Given the description of an element on the screen output the (x, y) to click on. 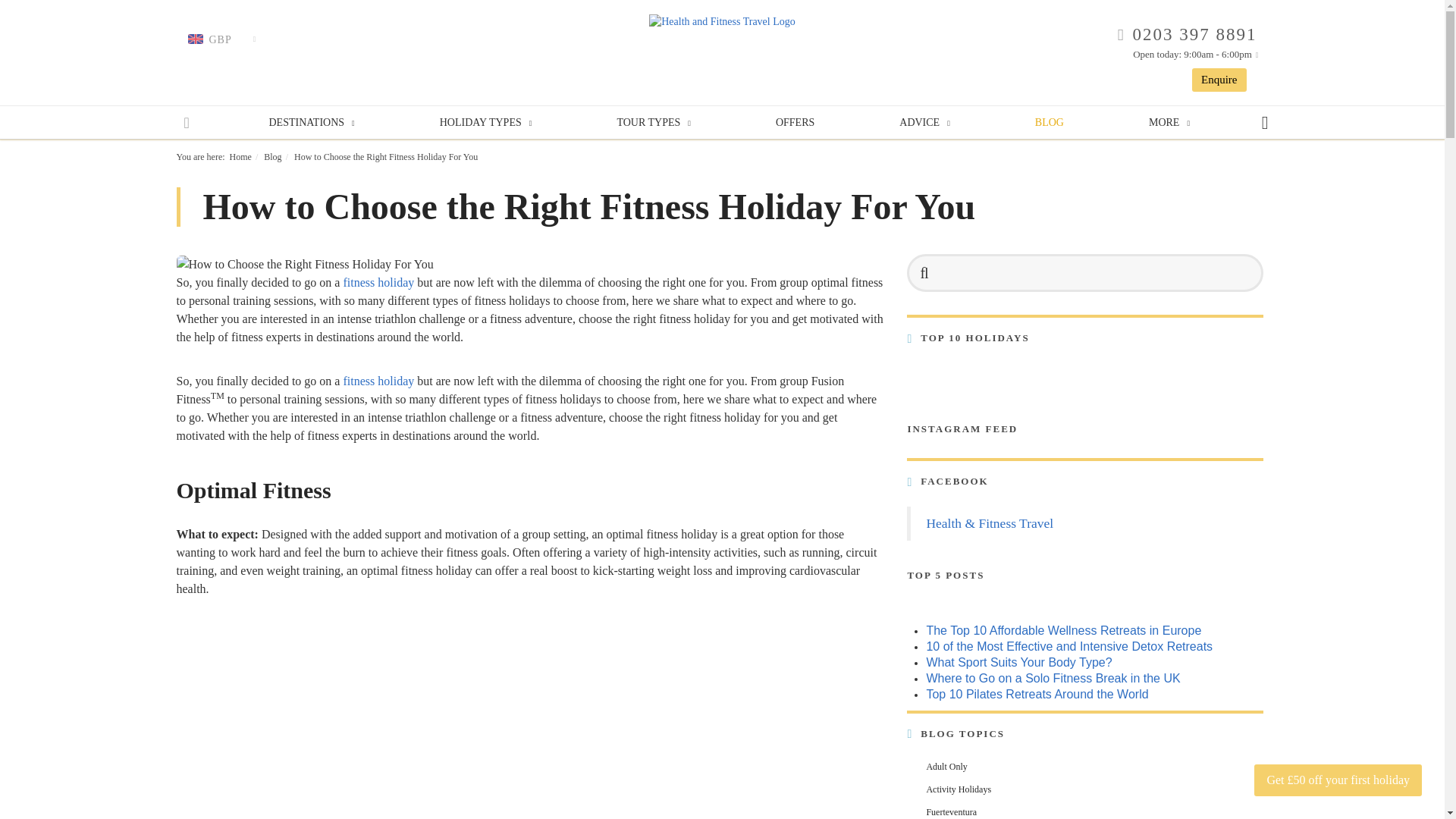
The Top 10 Affordable Wellness Retreats in Europe (1063, 630)
What sport suits your body type blog (1019, 662)
Enquire (1219, 79)
10 of the Most Effective and Intensive Detox Retreats (1069, 645)
Top 10 Pilates Retreats Around the World (1037, 694)
